Given the description of an element on the screen output the (x, y) to click on. 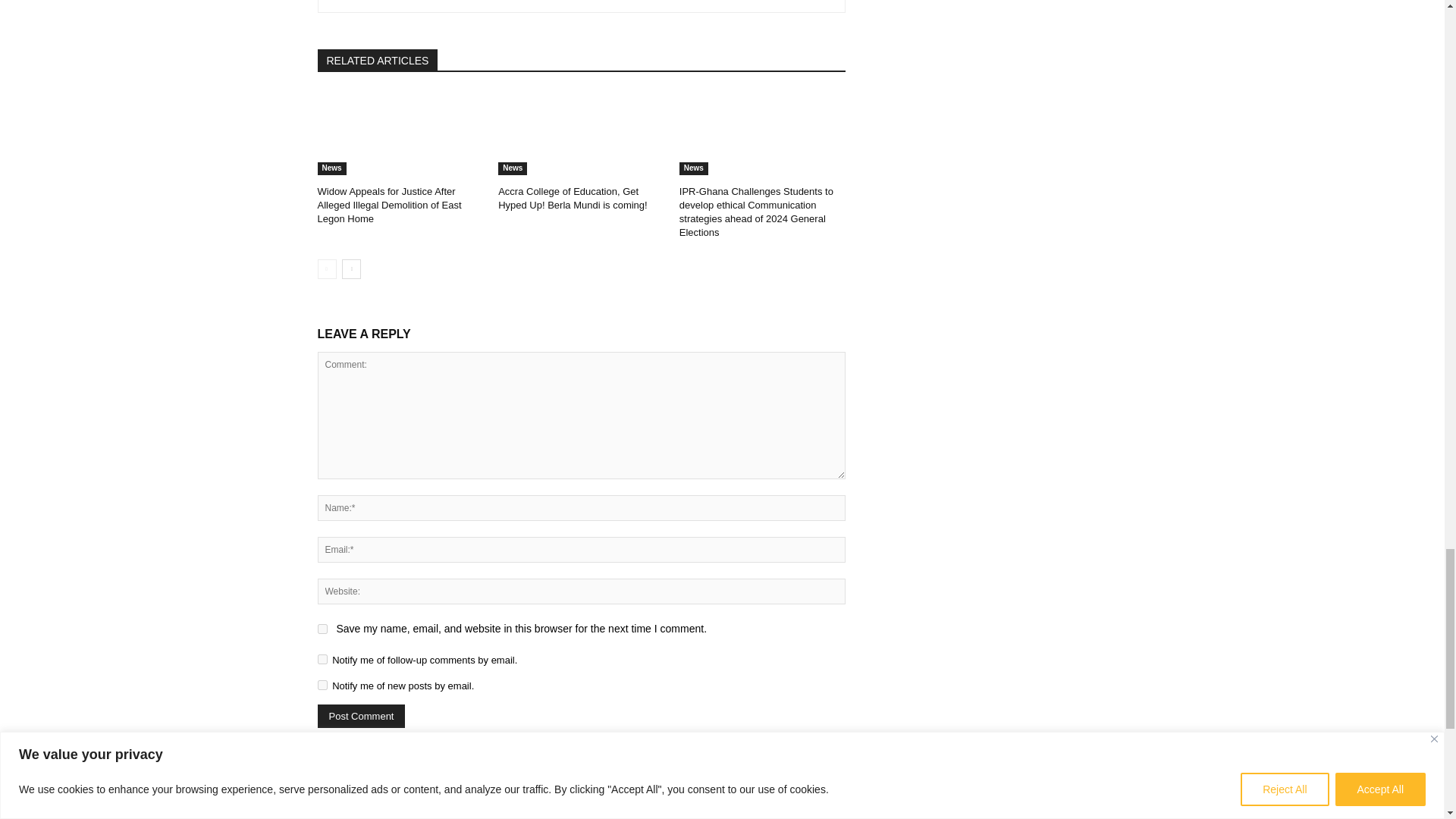
yes (321, 628)
Post Comment (360, 716)
subscribe (321, 685)
subscribe (321, 659)
